Given the description of an element on the screen output the (x, y) to click on. 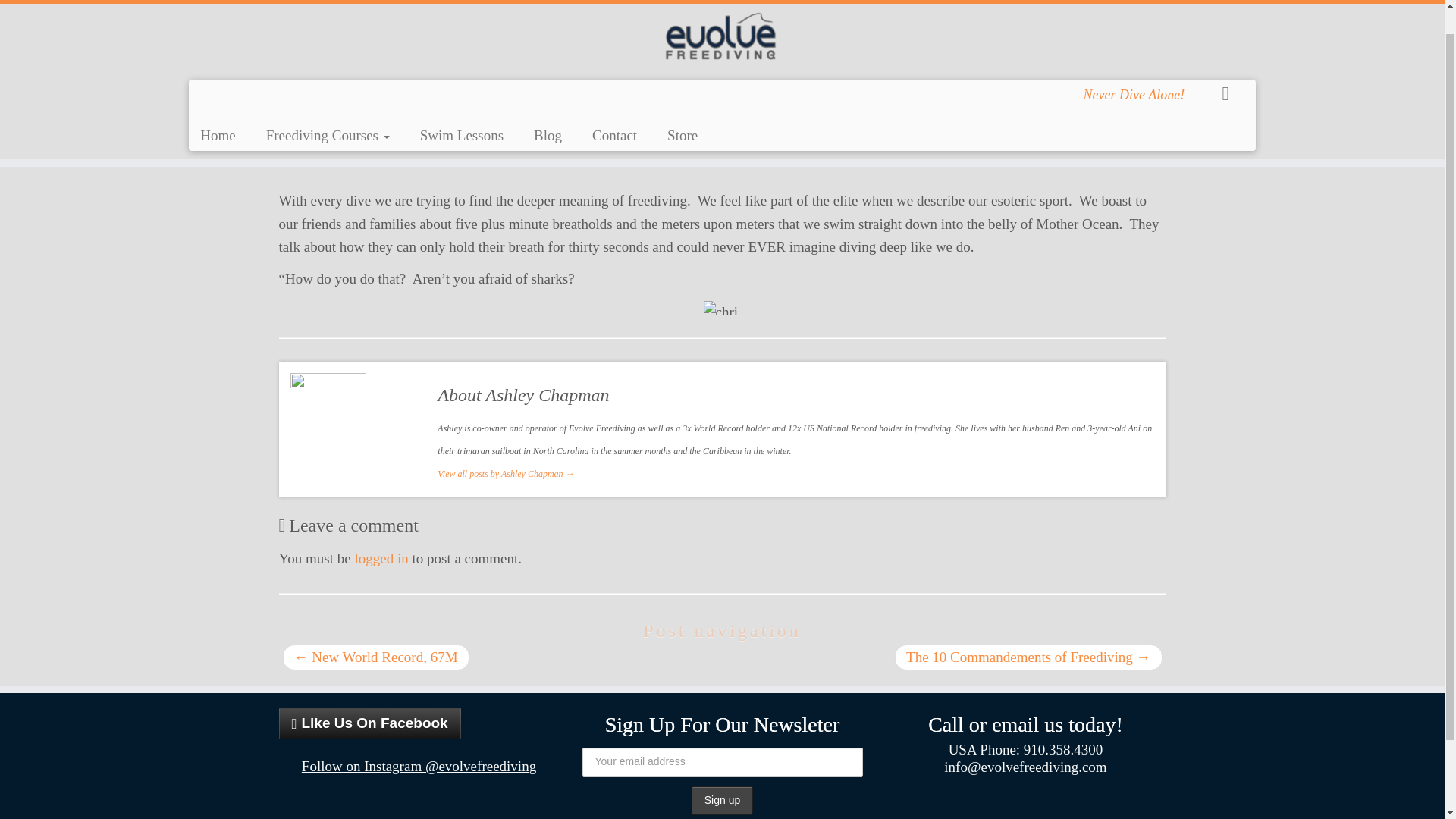
Home (223, 109)
Freediving Courses (327, 109)
Sign up (721, 800)
View your shopping cart (1235, 65)
View all posts in Blog (347, 131)
1:58 pm (301, 131)
View all posts in new to sport (410, 131)
View all posts by Ashley Chapman (475, 131)
